Given the description of an element on the screen output the (x, y) to click on. 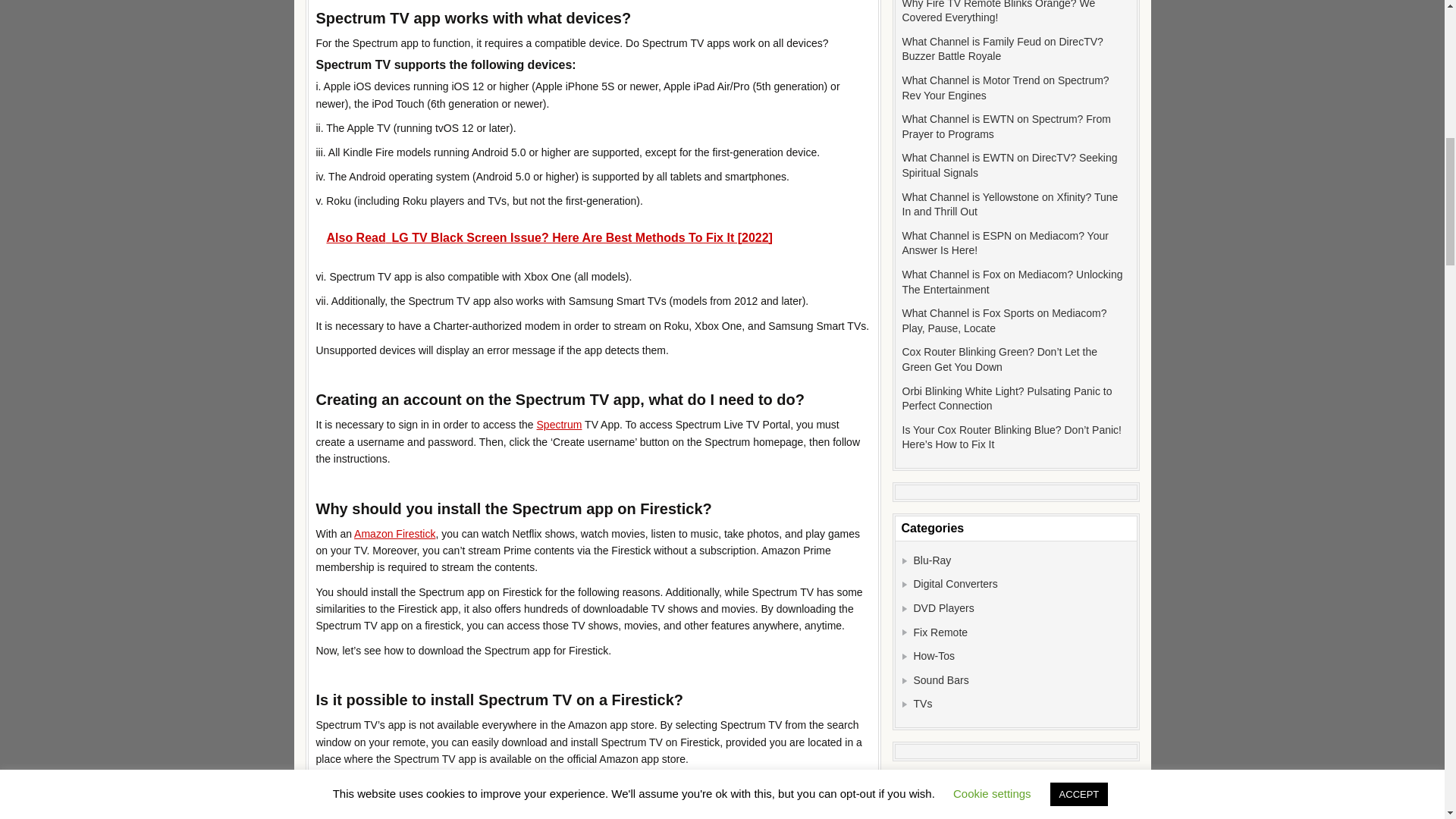
Spectrum (559, 424)
Amazon Firestick (394, 533)
